Given the description of an element on the screen output the (x, y) to click on. 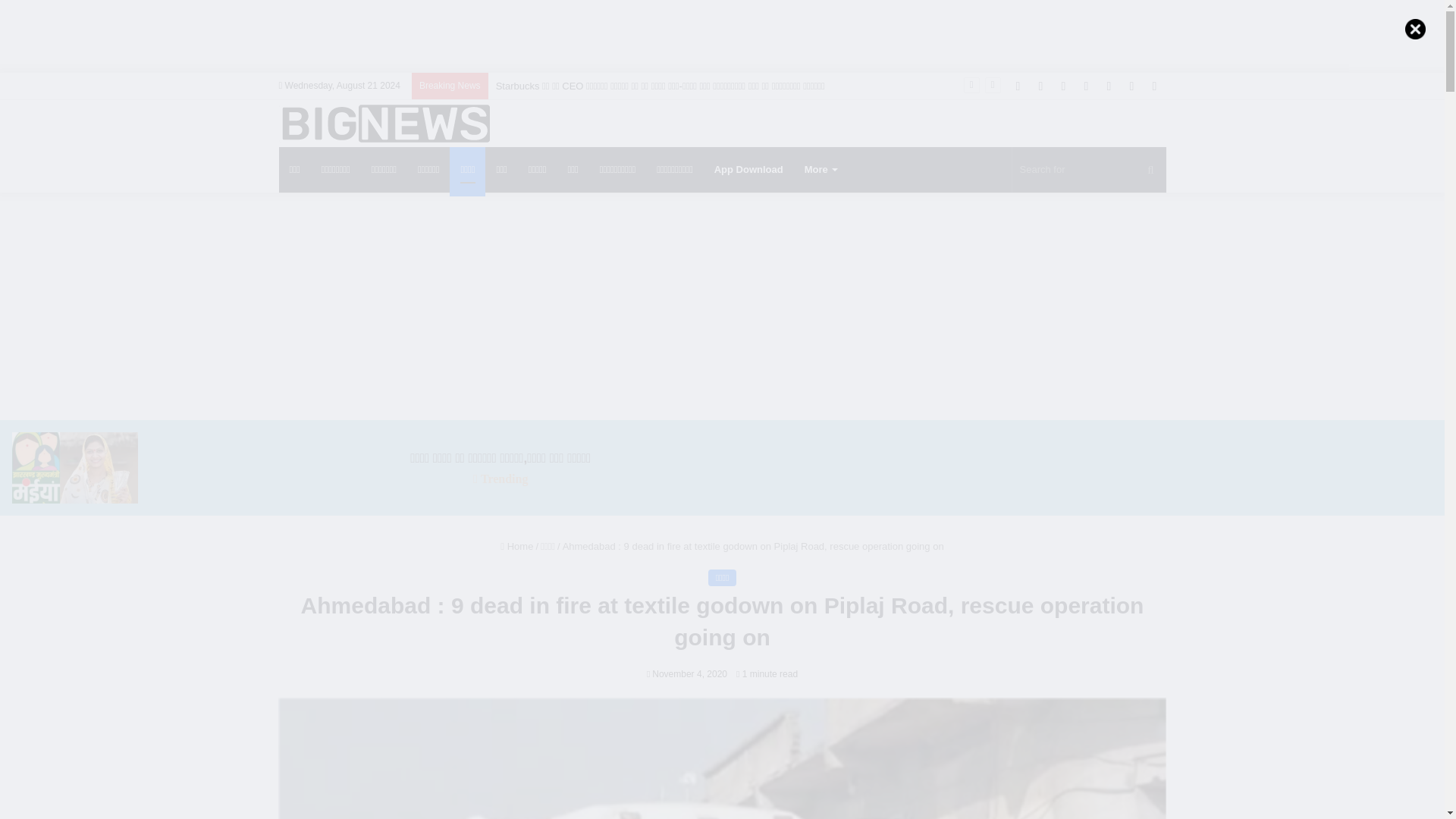
bignews (384, 123)
Advertisement (721, 33)
Home (516, 546)
More (820, 169)
App Download (748, 169)
Search for (1088, 169)
